Given the description of an element on the screen output the (x, y) to click on. 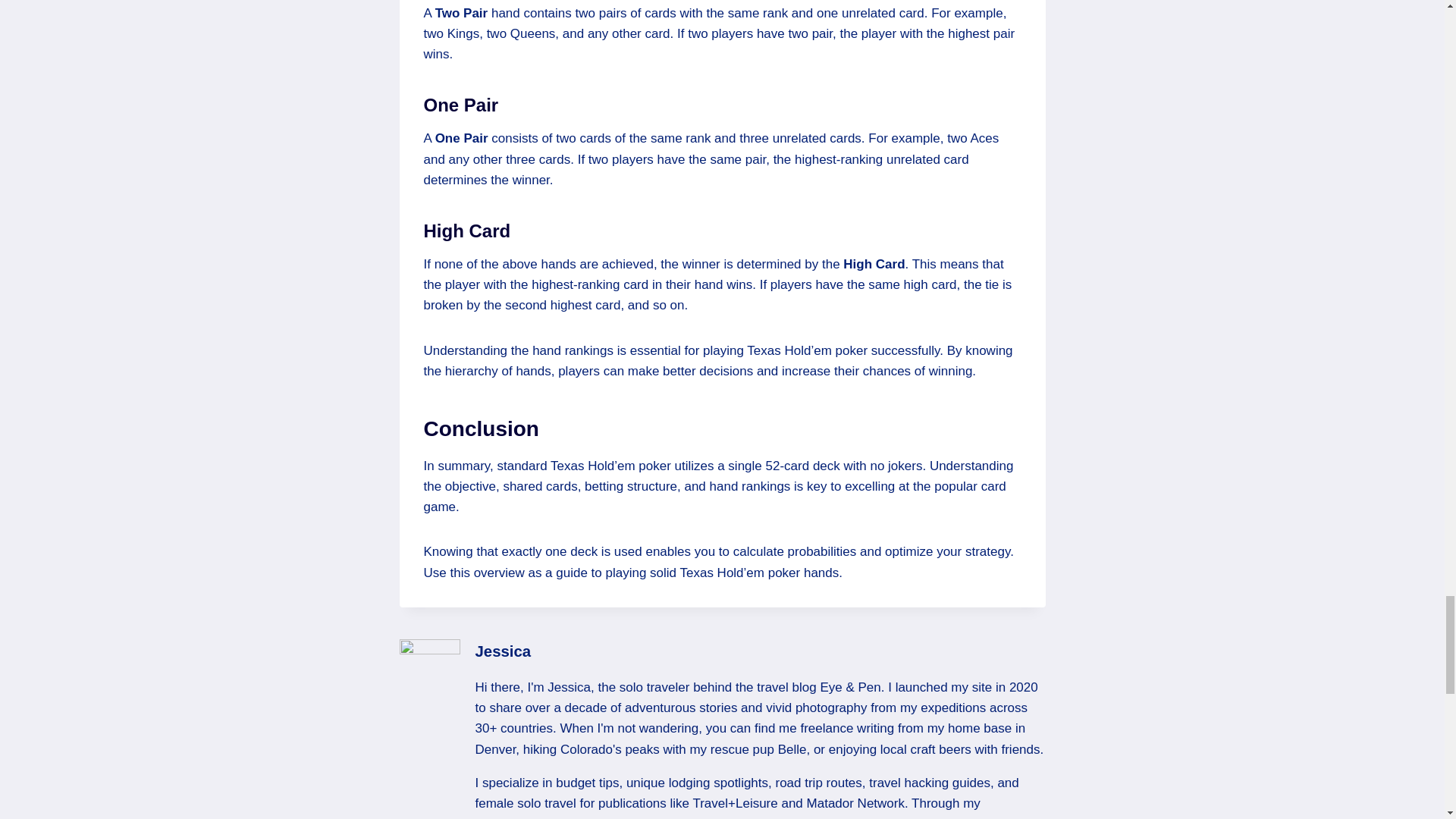
Jessica (502, 651)
Posts by Jessica (502, 651)
